Given the description of an element on the screen output the (x, y) to click on. 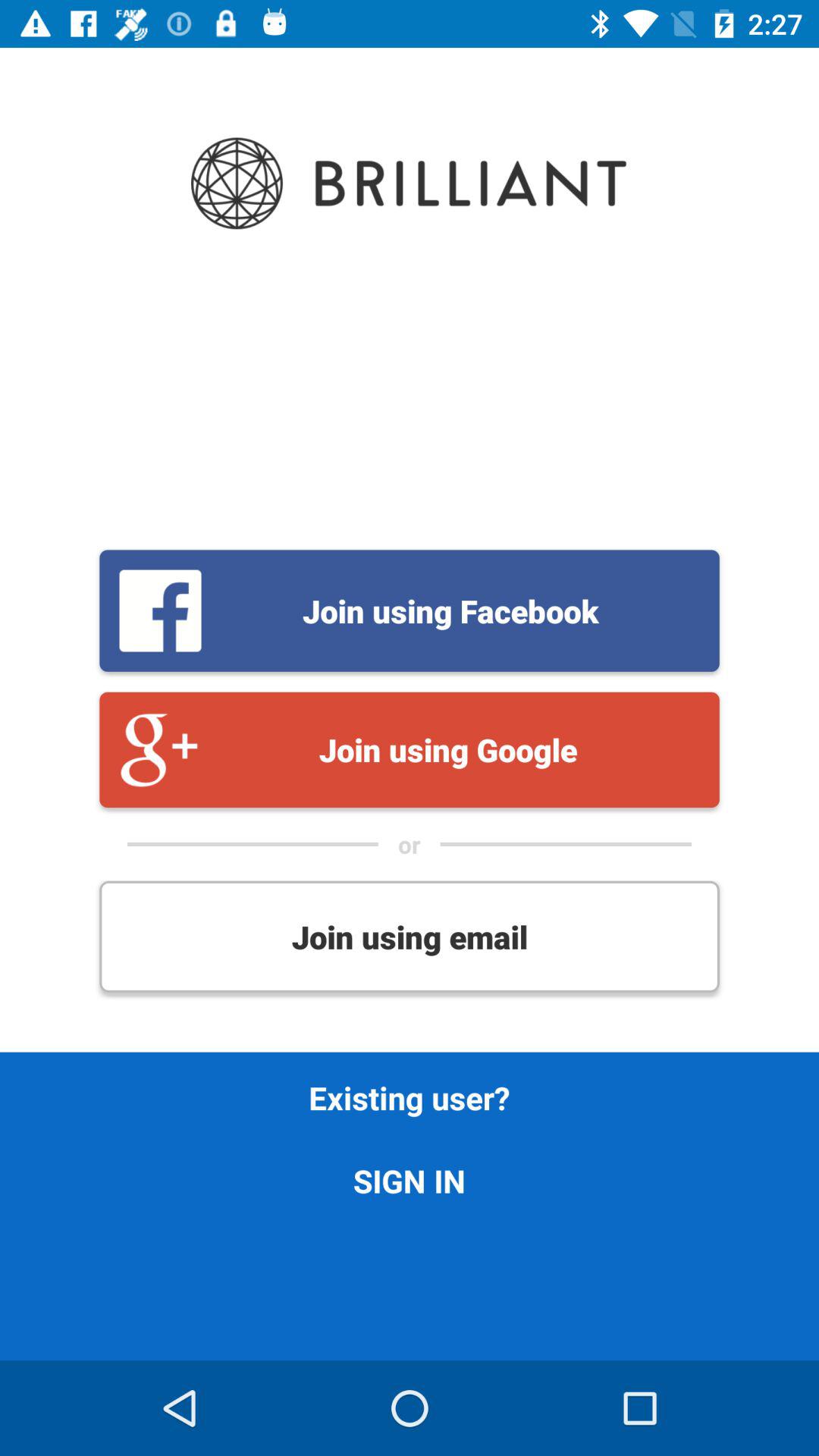
turn off icon below existing user? icon (409, 1180)
